Given the description of an element on the screen output the (x, y) to click on. 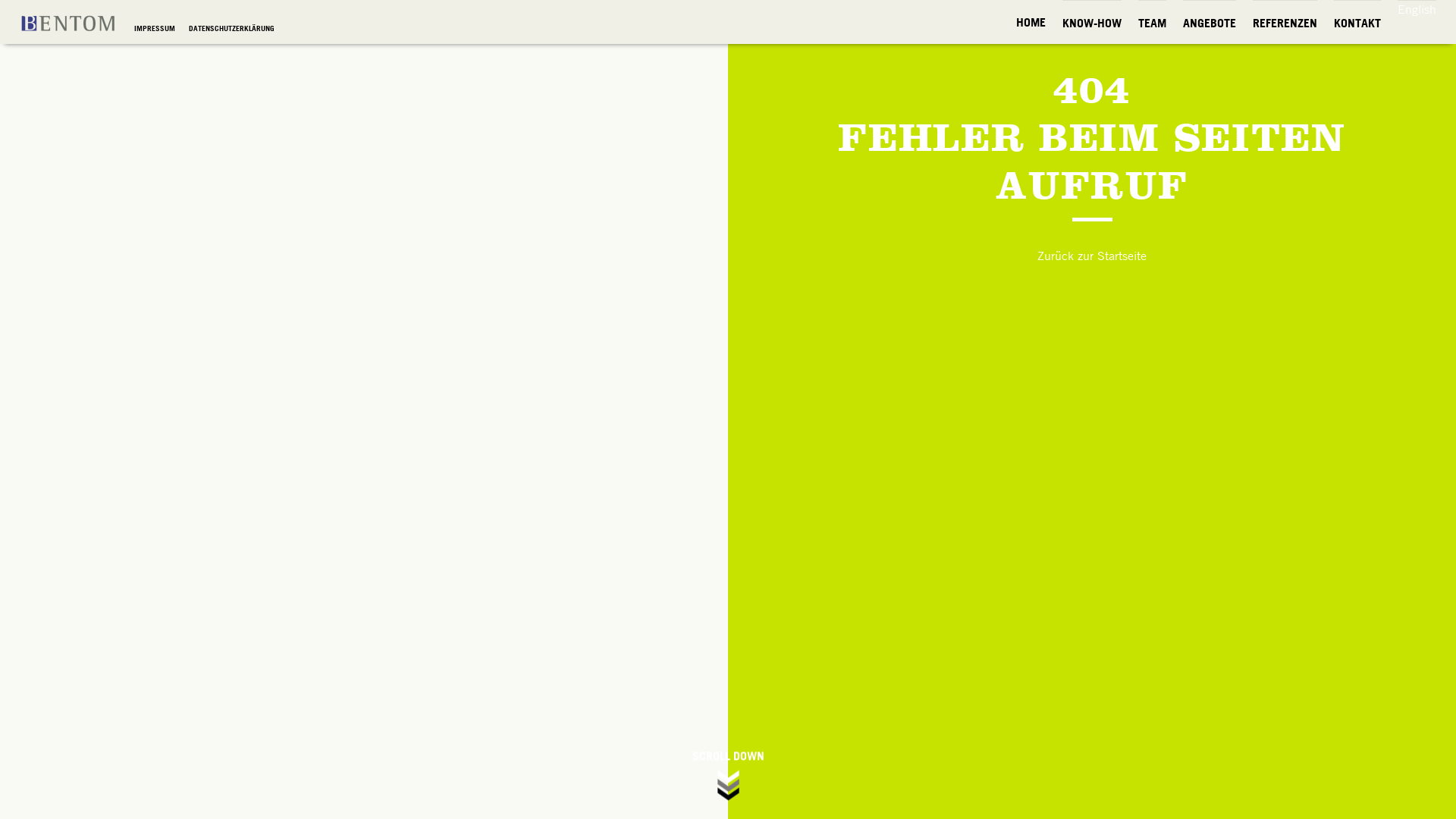
TEAM Element type: text (1152, 22)
SCROLL DOWN Element type: text (727, 776)
IMPRESSUM Element type: text (155, 28)
REFERENZEN Element type: text (1284, 22)
KONTAKT Element type: text (1356, 22)
KNOW-HOW Element type: text (1091, 22)
HOME Element type: text (1030, 21)
ANGEBOTE Element type: text (1209, 22)
